Given the description of an element on the screen output the (x, y) to click on. 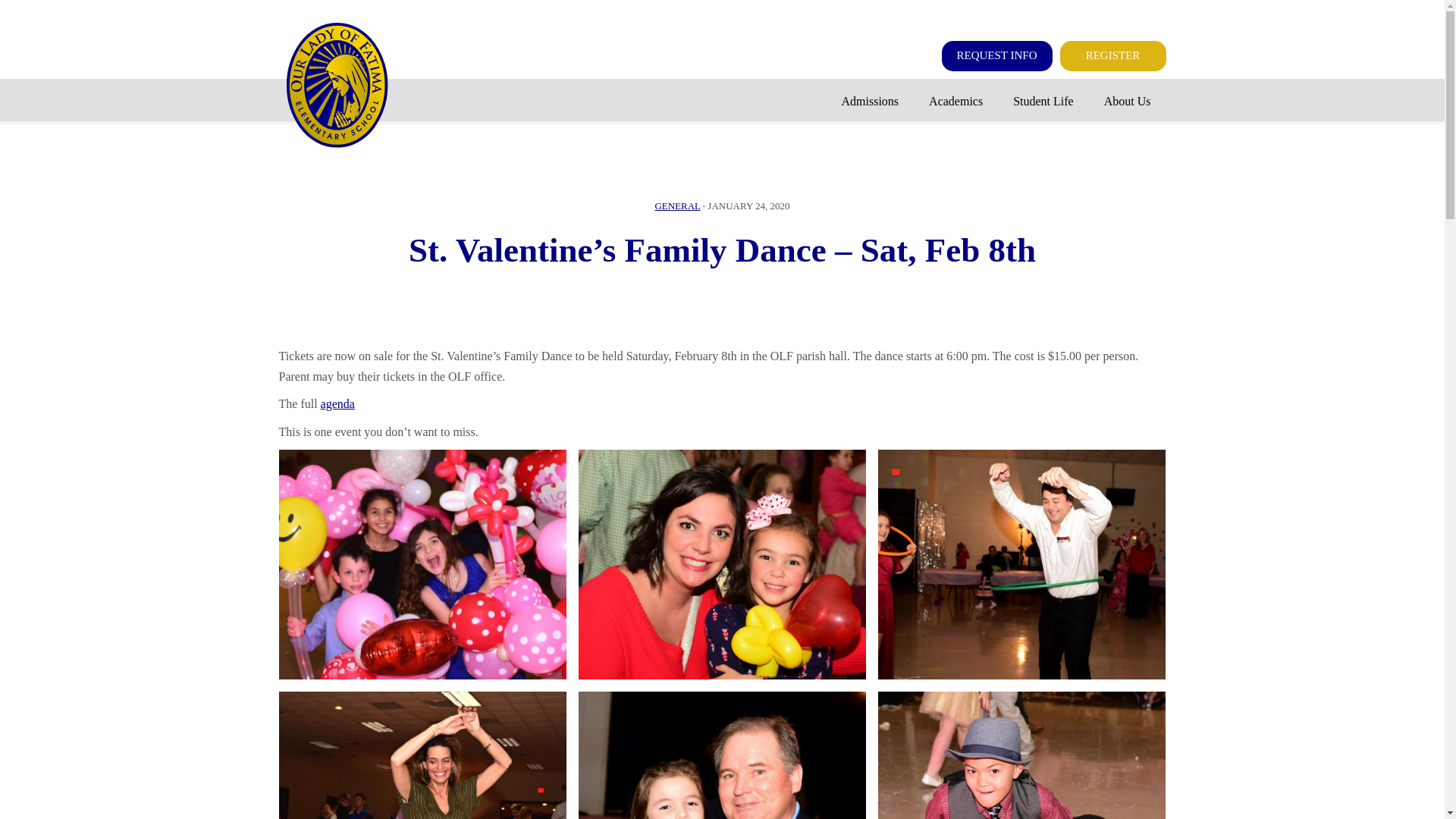
GENERAL (676, 205)
Academics (955, 101)
agenda (337, 403)
Admissions (870, 101)
JANUARY 24, 2020 (748, 205)
About Us (1127, 101)
Student Life (1042, 101)
REGISTER (1112, 55)
REQUEST INFO (997, 55)
